Given the description of an element on the screen output the (x, y) to click on. 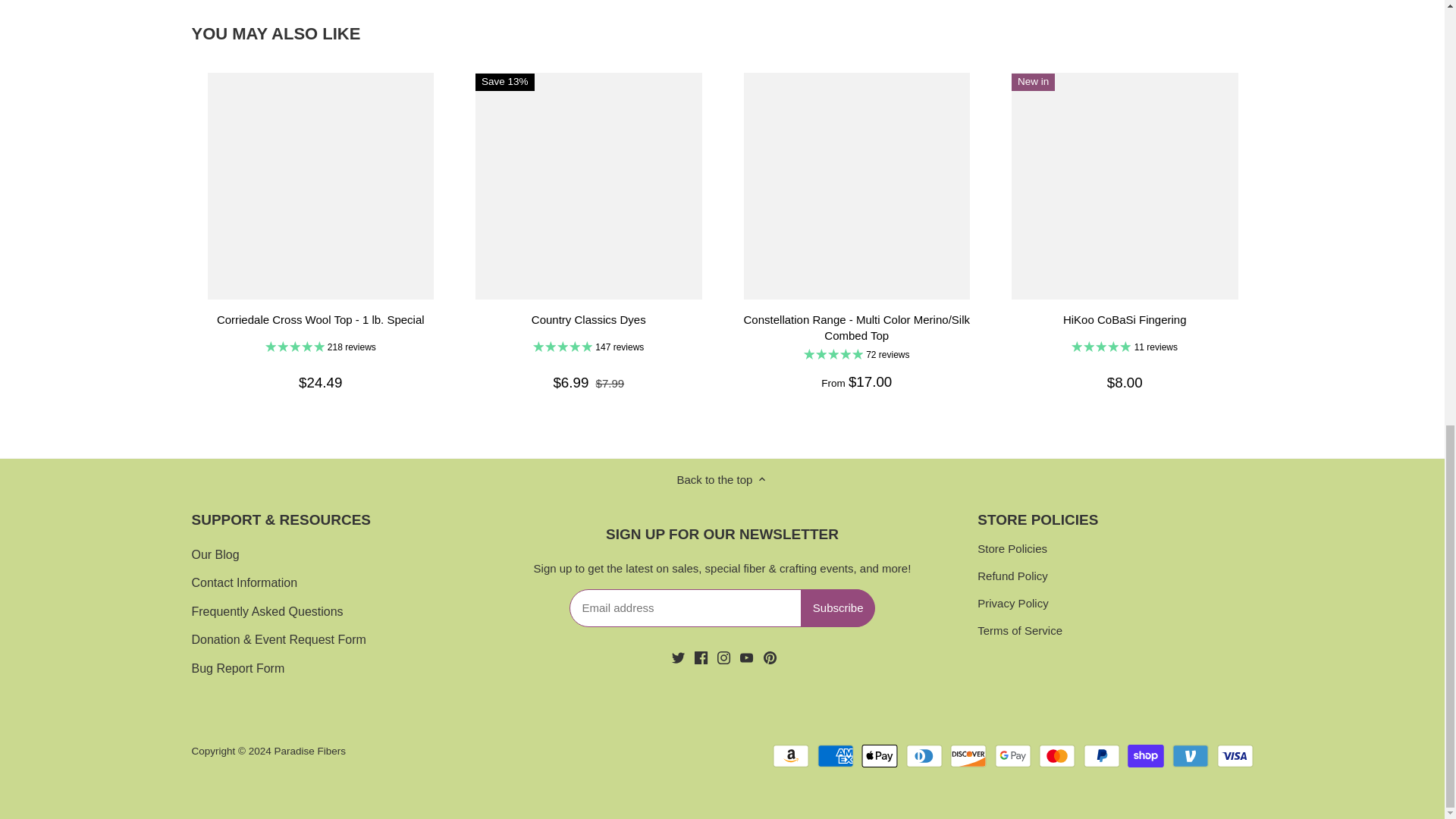
Subscribe (838, 607)
Privacy Policy (1012, 603)
Refund Policy (1012, 576)
Terms of Service (1019, 631)
Store Policies (1011, 549)
